Given the description of an element on the screen output the (x, y) to click on. 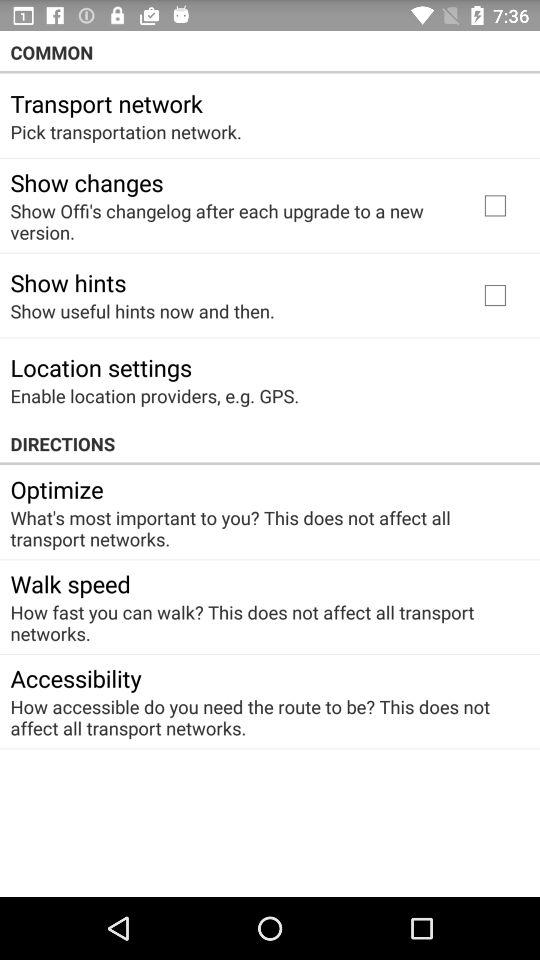
click app below the how fast you item (75, 678)
